Given the description of an element on the screen output the (x, y) to click on. 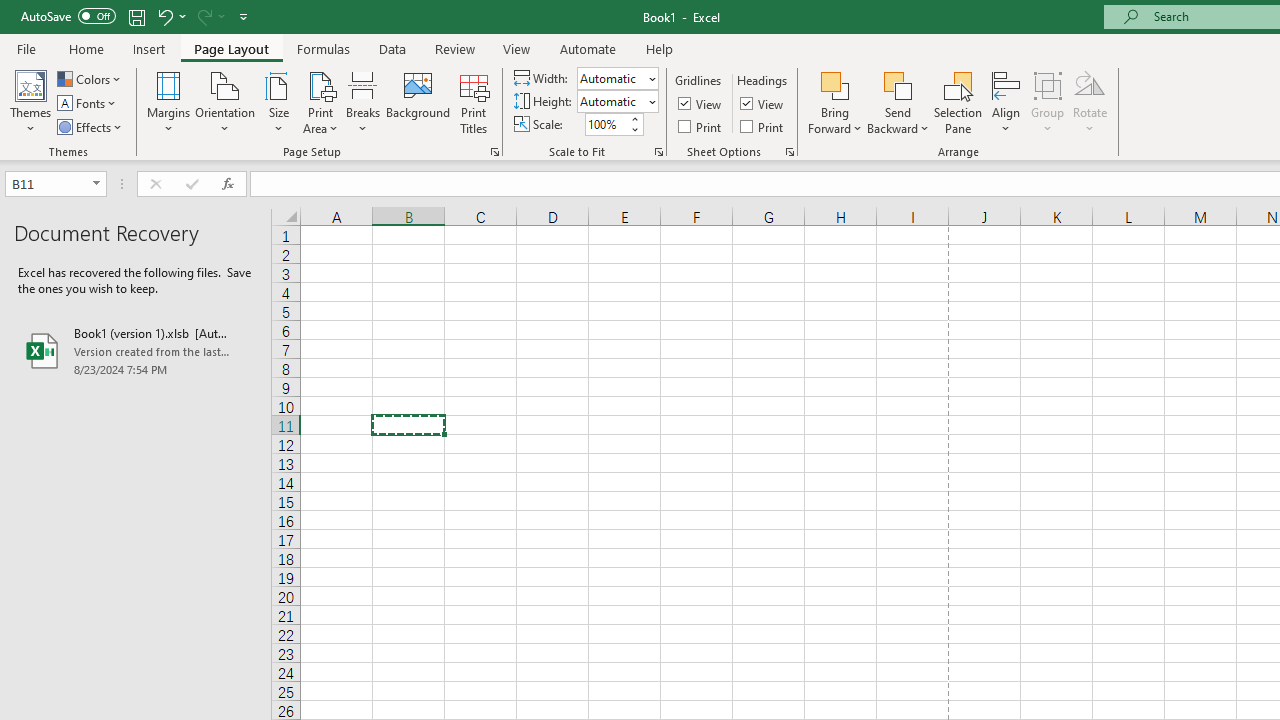
Book1 (version 1).xlsb  [AutoRecovered] (136, 350)
Height (618, 101)
Height (611, 101)
Page Setup (658, 151)
Width (618, 78)
Margins (168, 102)
Less (633, 129)
Selection Pane... (958, 102)
